Given the description of an element on the screen output the (x, y) to click on. 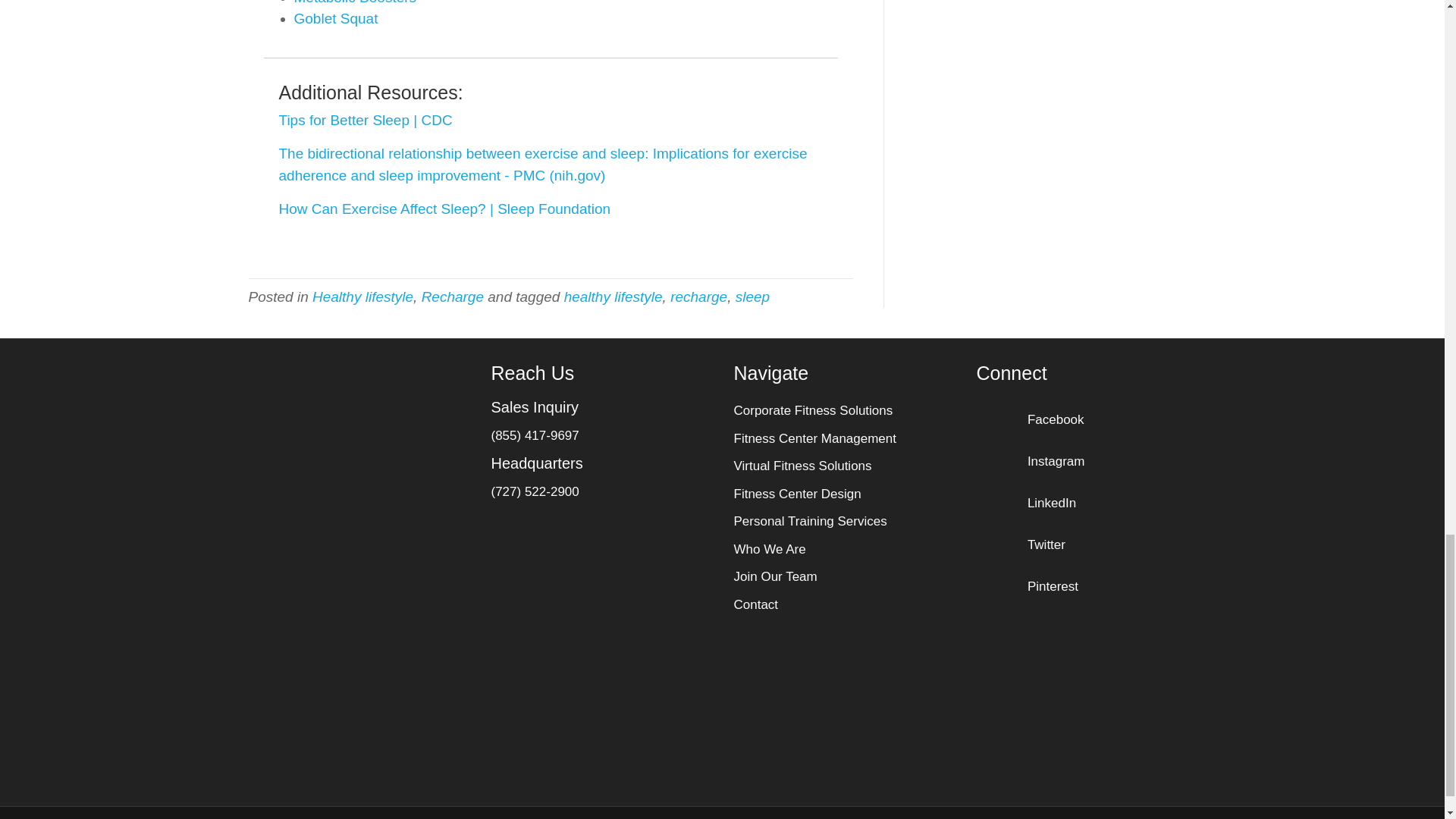
recharge (697, 296)
Metabolic Boosters (355, 2)
Healthy lifestyle (363, 296)
Goblet Squat (336, 18)
sleep (752, 296)
healthy lifestyle (613, 296)
Recharge (452, 296)
